Given the description of an element on the screen output the (x, y) to click on. 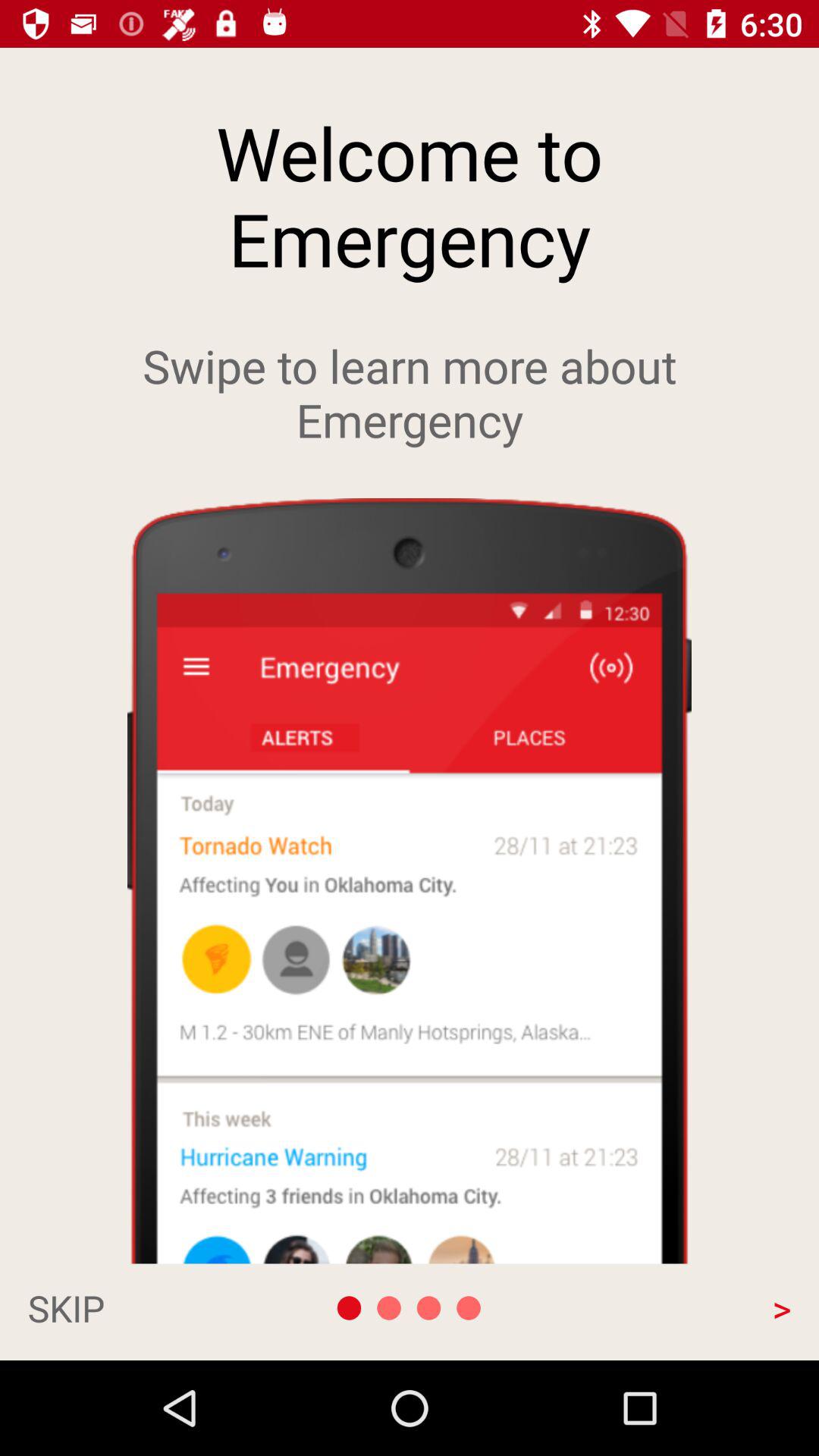
launch the > icon (677, 1307)
